Given the description of an element on the screen output the (x, y) to click on. 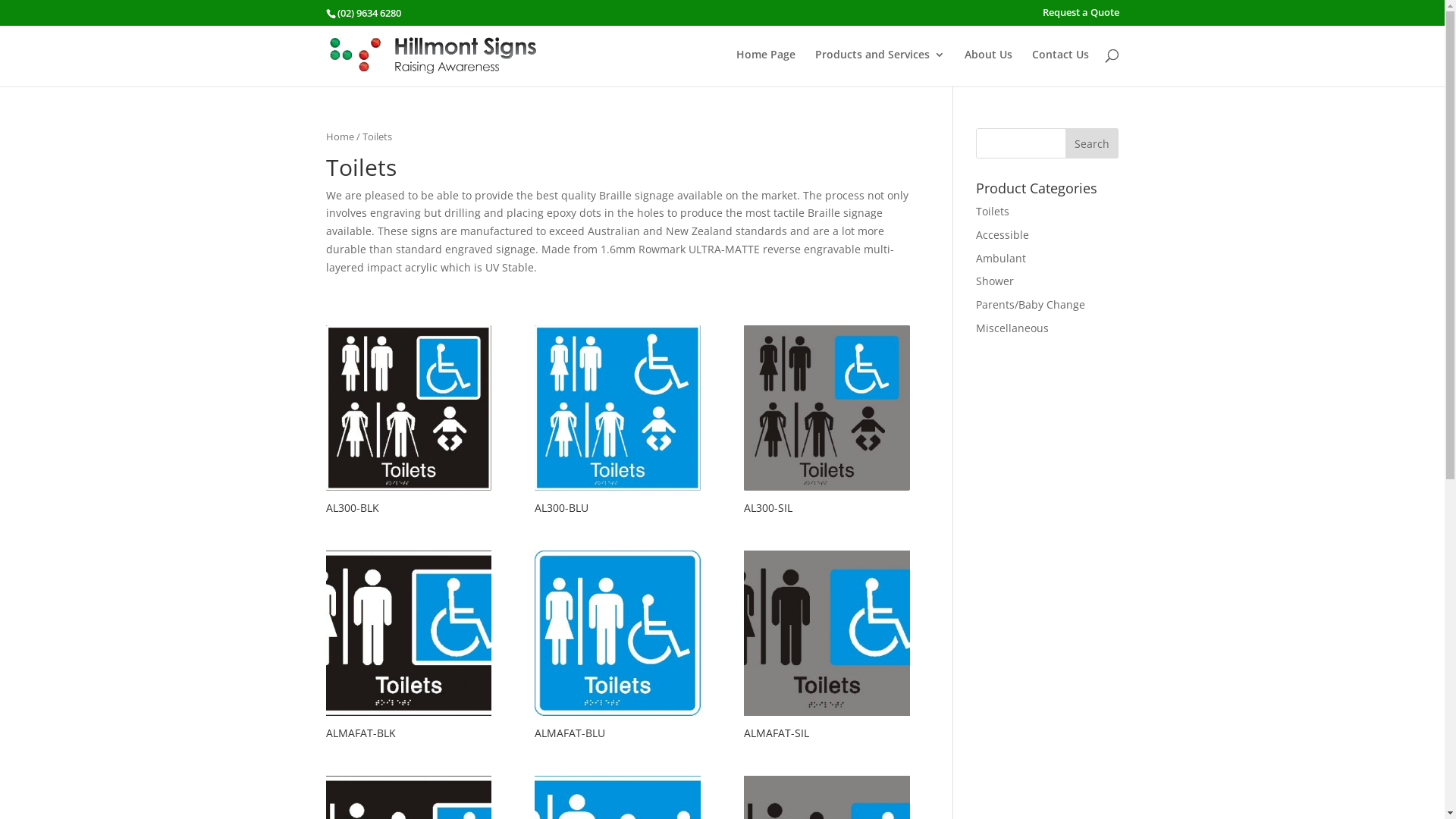
ALMAFAT-BLK Element type: text (408, 646)
Accessible Element type: text (1002, 234)
Products and Services Element type: text (879, 67)
AL300-SIL Element type: text (826, 421)
Miscellaneous Element type: text (1011, 327)
Request a Quote Element type: text (1079, 16)
AL300-BLK Element type: text (408, 421)
Home Page Element type: text (764, 67)
Home Element type: text (340, 136)
Contact Us Element type: text (1059, 67)
Toilets Element type: text (992, 210)
ALMAFAT-SIL Element type: text (826, 646)
Search Element type: text (1091, 143)
About Us Element type: text (988, 67)
Parents/Baby Change Element type: text (1030, 304)
AL300-BLU Element type: text (616, 421)
Ambulant Element type: text (1000, 258)
Shower Element type: text (994, 280)
ALMAFAT-BLU Element type: text (616, 646)
